Given the description of an element on the screen output the (x, y) to click on. 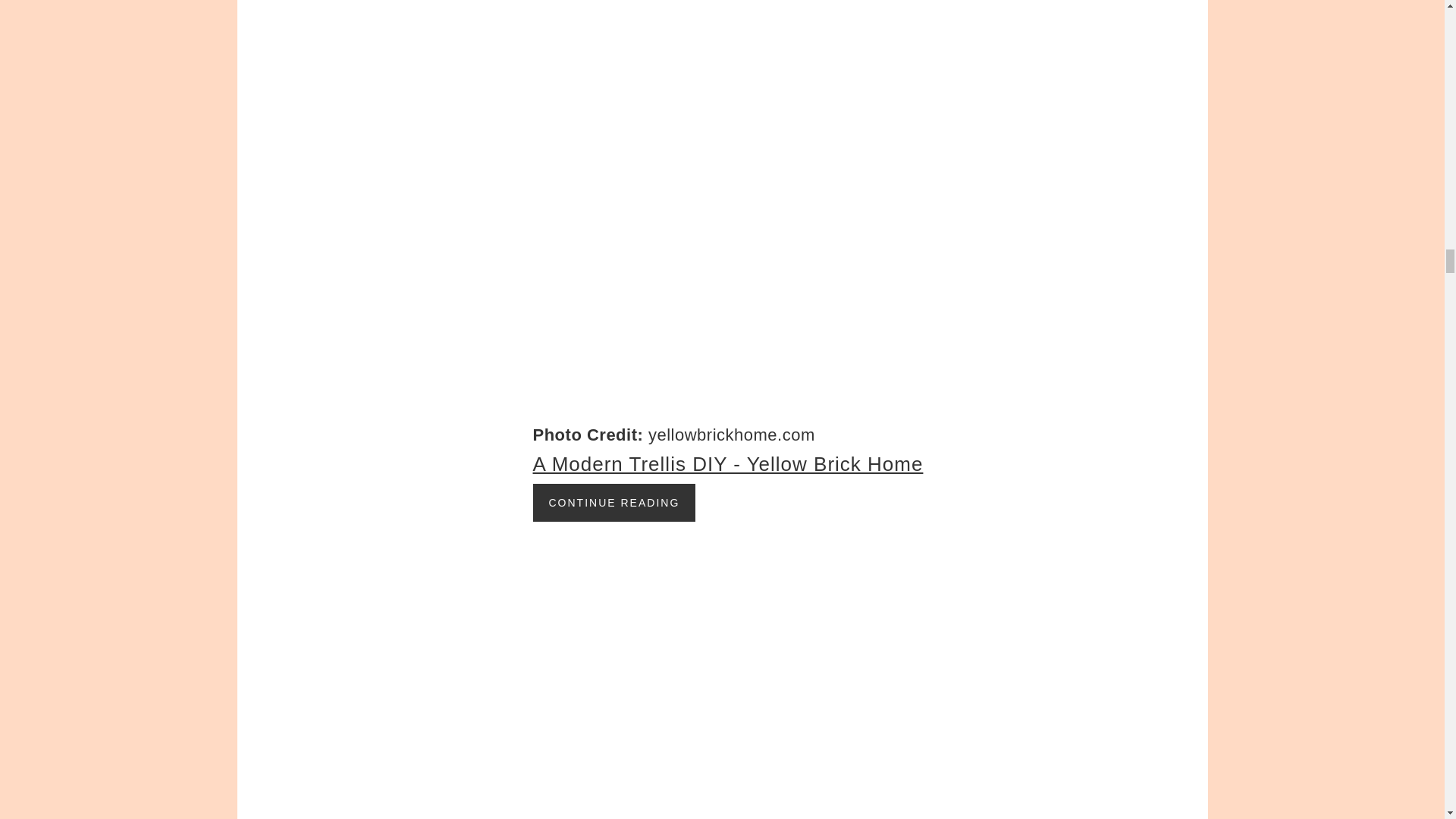
A Modern Trellis DIY - Yellow Brick Home (727, 463)
CONTINUE READING (613, 502)
